Given the description of an element on the screen output the (x, y) to click on. 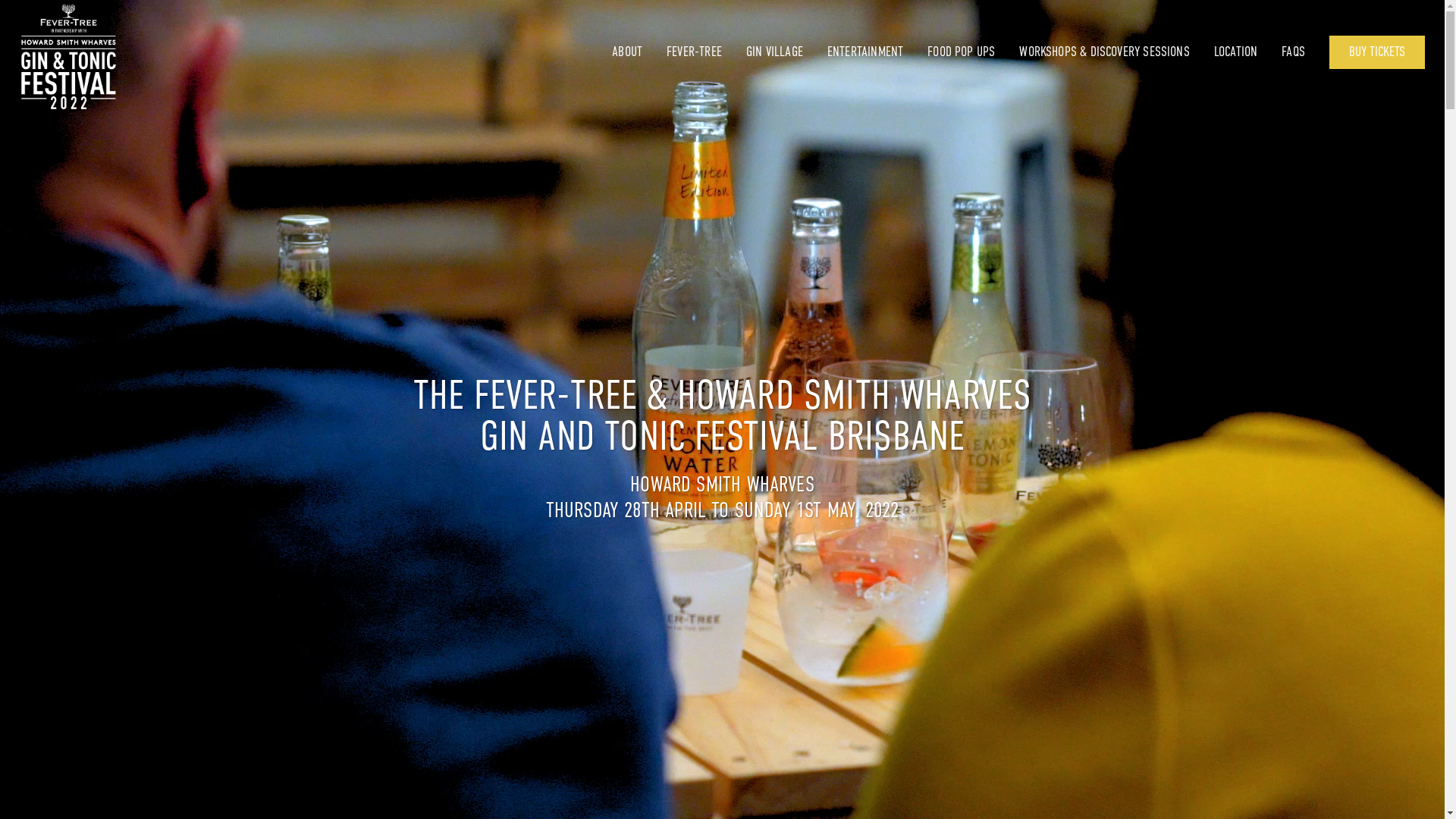
FAQS Element type: text (1305, 51)
BUY TICKETS Element type: text (1376, 52)
GIN VILLAGE Element type: text (786, 51)
FEVER-TREE Element type: text (706, 51)
ABOUT Element type: text (638, 51)
ENTERTAINMENT Element type: text (877, 51)
Fever-Tree Gin and Tonic Festival Element type: hover (68, 57)
WORKSHOPS & DISCOVERY SESSIONS Element type: text (1116, 51)
FOOD POP UPS Element type: text (973, 51)
LOCATION Element type: text (1247, 51)
Fever-Tree Gin and Tonic Festival Element type: hover (68, 54)
